Given the description of an element on the screen output the (x, y) to click on. 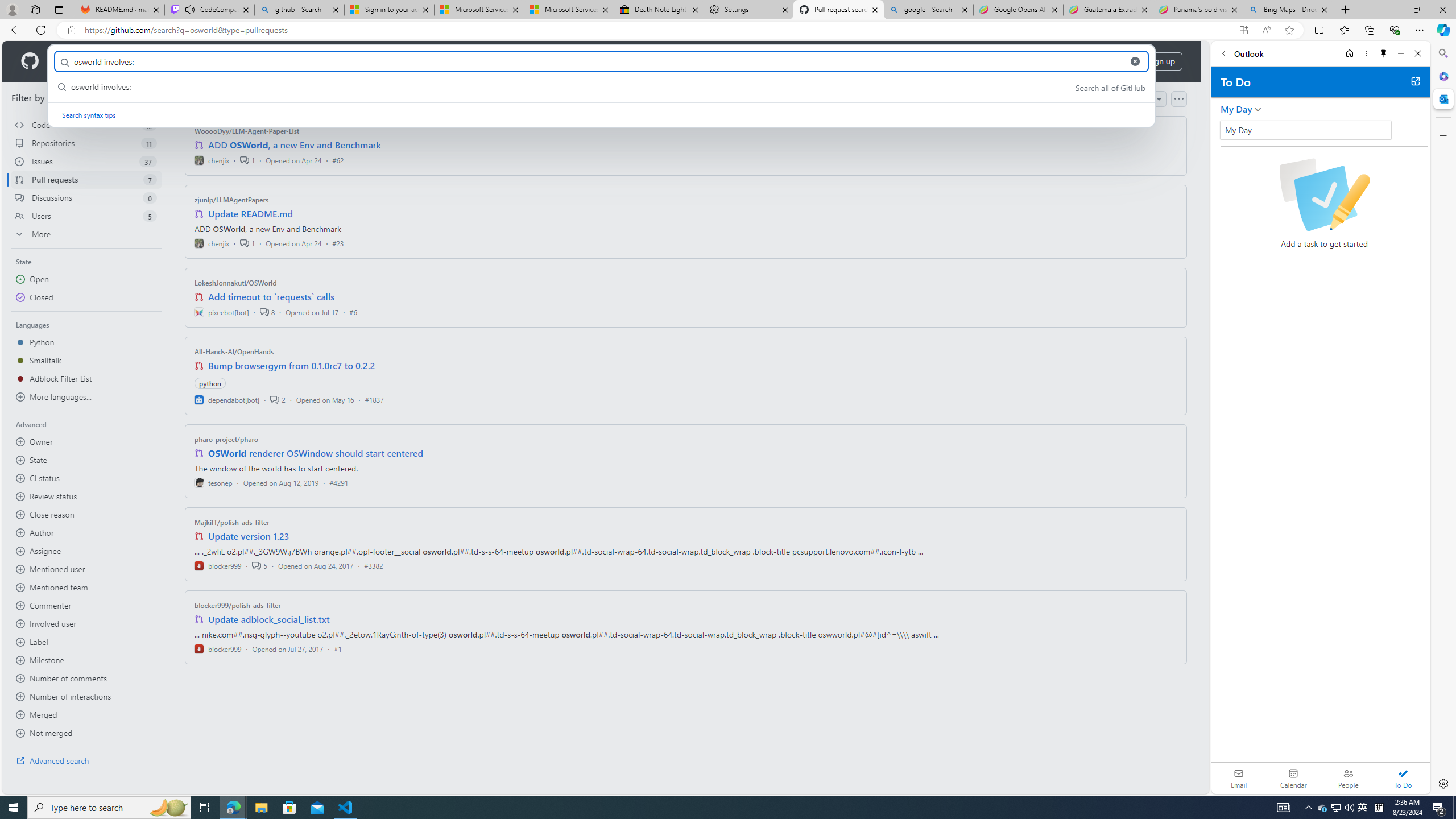
Product (74, 60)
App available. Install GitHub (1243, 29)
